Given the description of an element on the screen output the (x, y) to click on. 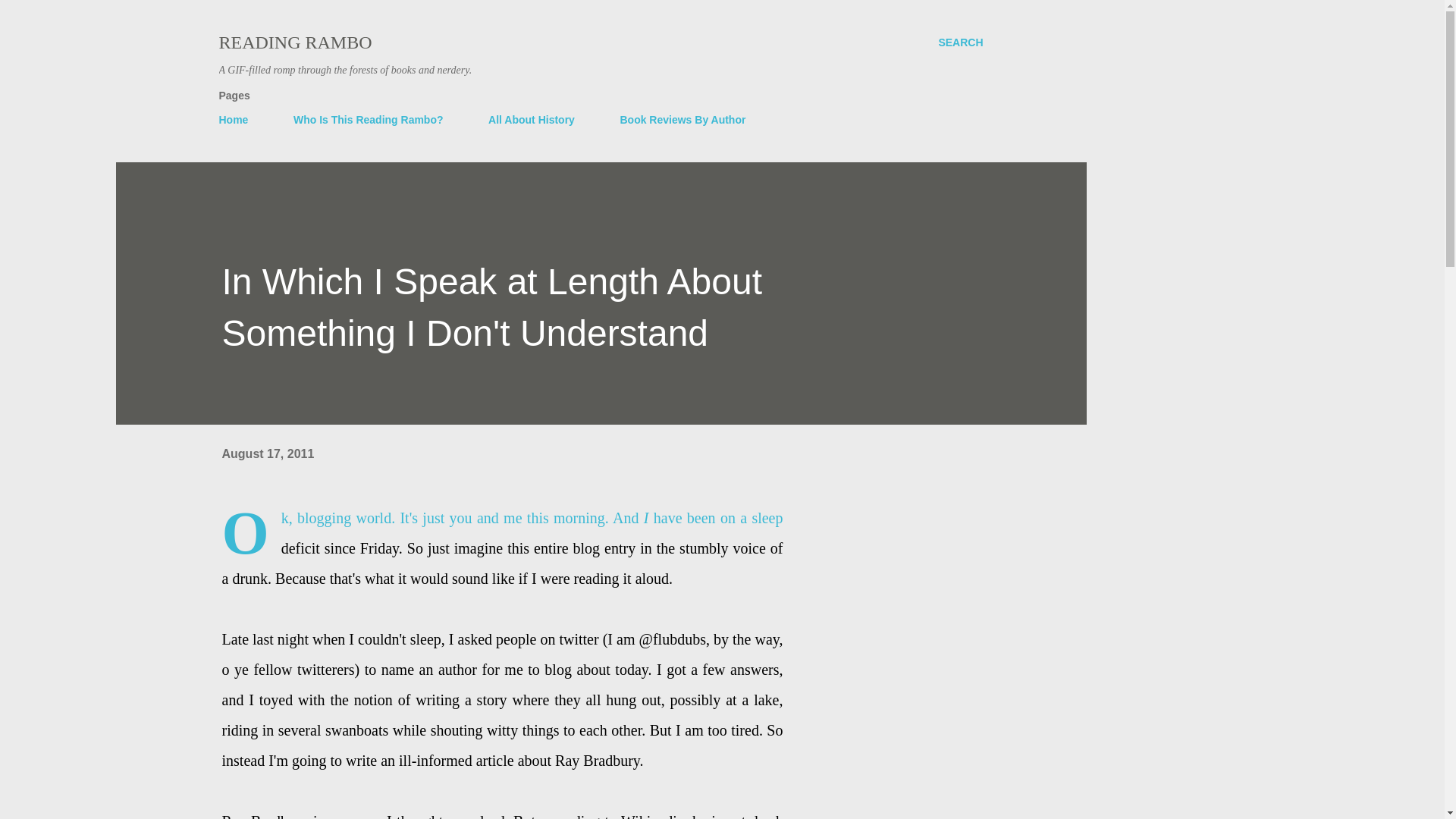
Book Reviews By Author (682, 119)
All About History (531, 119)
Who Is This Reading Rambo? (367, 119)
SEARCH (959, 42)
permanent link (267, 453)
August 17, 2011 (267, 453)
Home (237, 119)
READING RAMBO (294, 42)
